Given the description of an element on the screen output the (x, y) to click on. 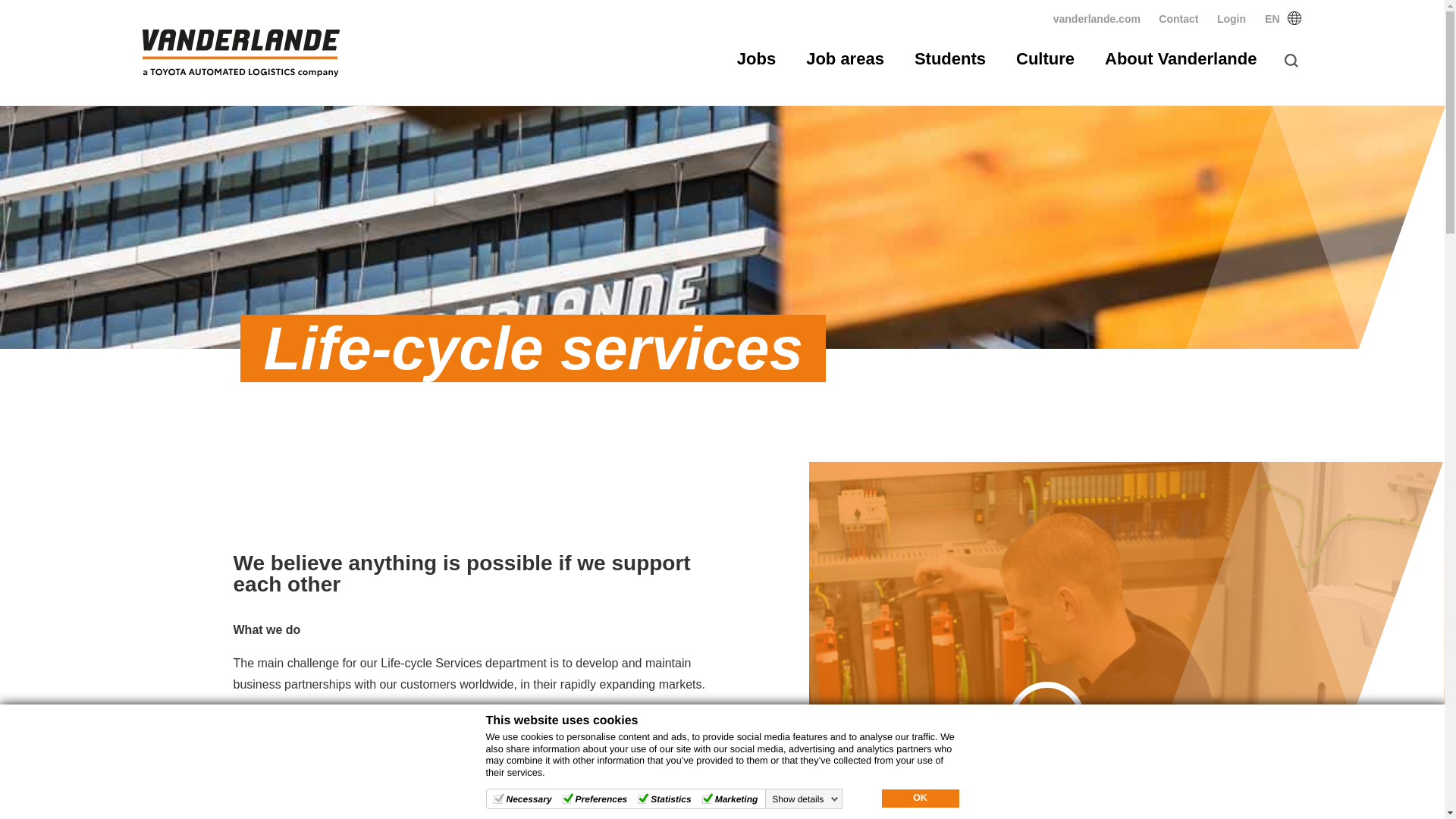
Show details (804, 799)
OK (919, 798)
